Given the description of an element on the screen output the (x, y) to click on. 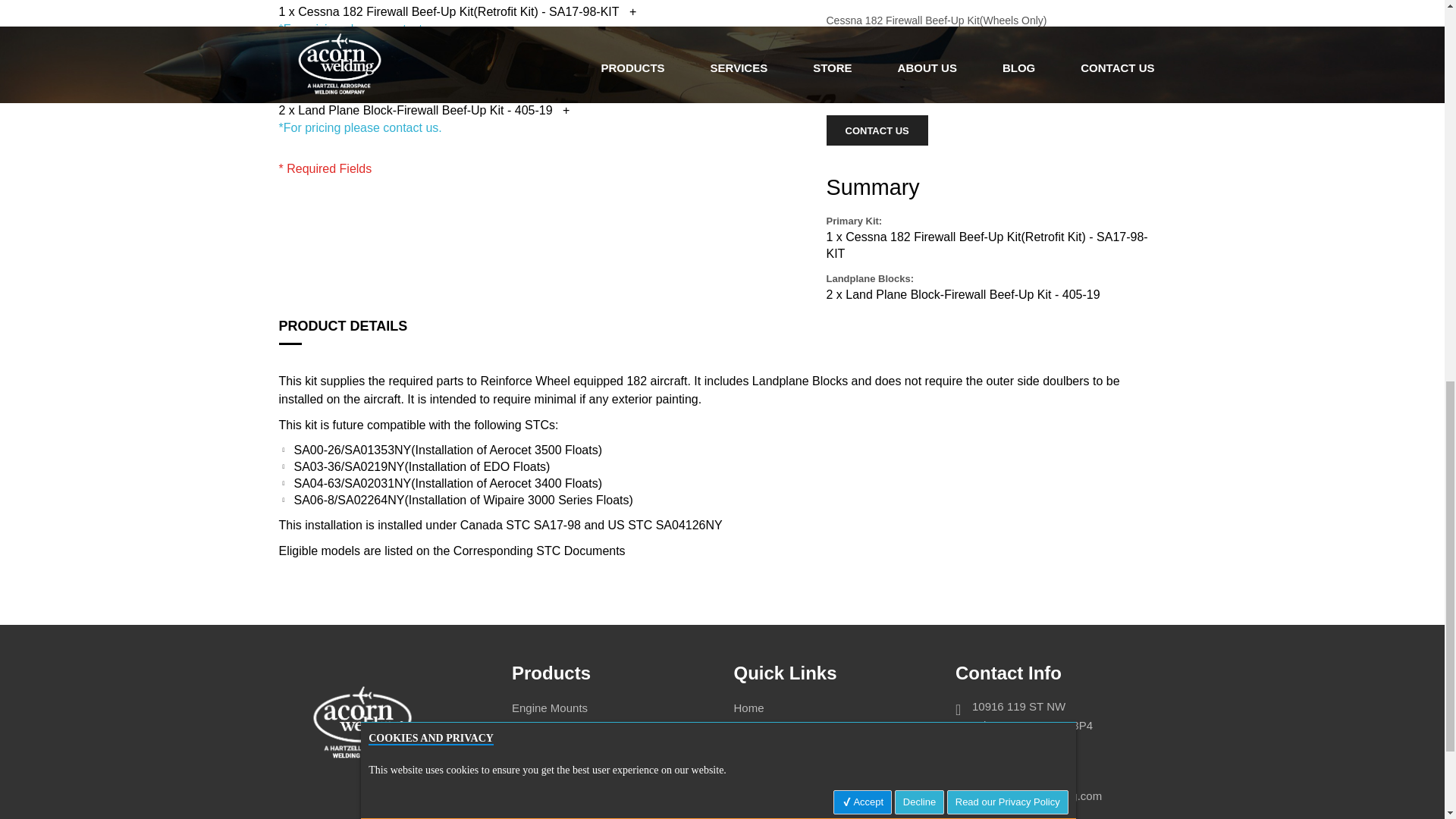
Contact Us (877, 130)
